Given the description of an element on the screen output the (x, y) to click on. 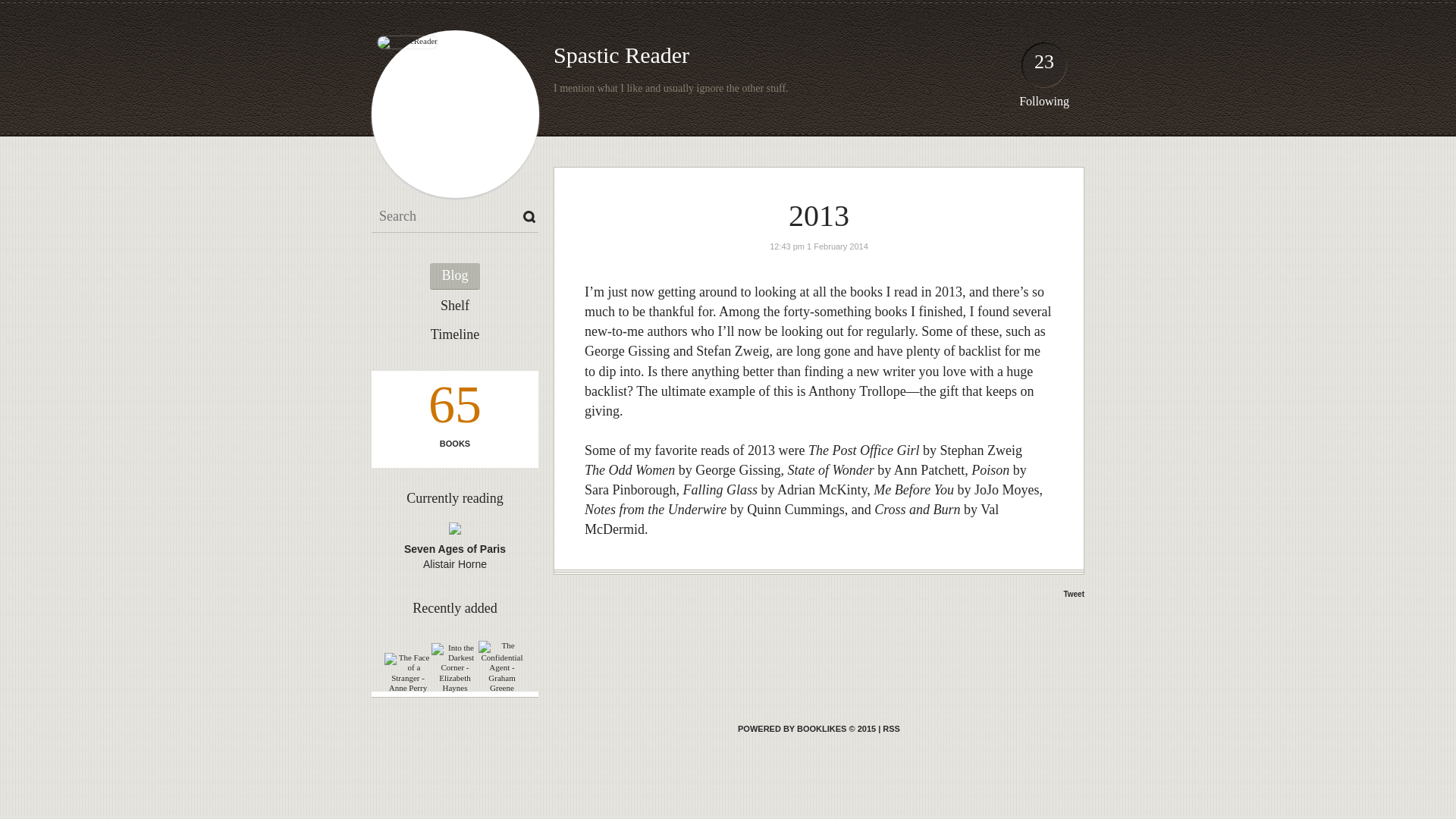
Tweet (1073, 593)
BookLikes (890, 728)
Timeline (454, 335)
Blog (454, 275)
Recently added (454, 607)
Spastic Reader (620, 54)
Shelf (454, 306)
BOOKS (454, 443)
23 (1043, 67)
Currently reading (454, 498)
65 (454, 408)
12:43 pm 1 February 2014 (818, 245)
2013 (818, 215)
BookLikes (807, 728)
RSS (890, 728)
